Given the description of an element on the screen output the (x, y) to click on. 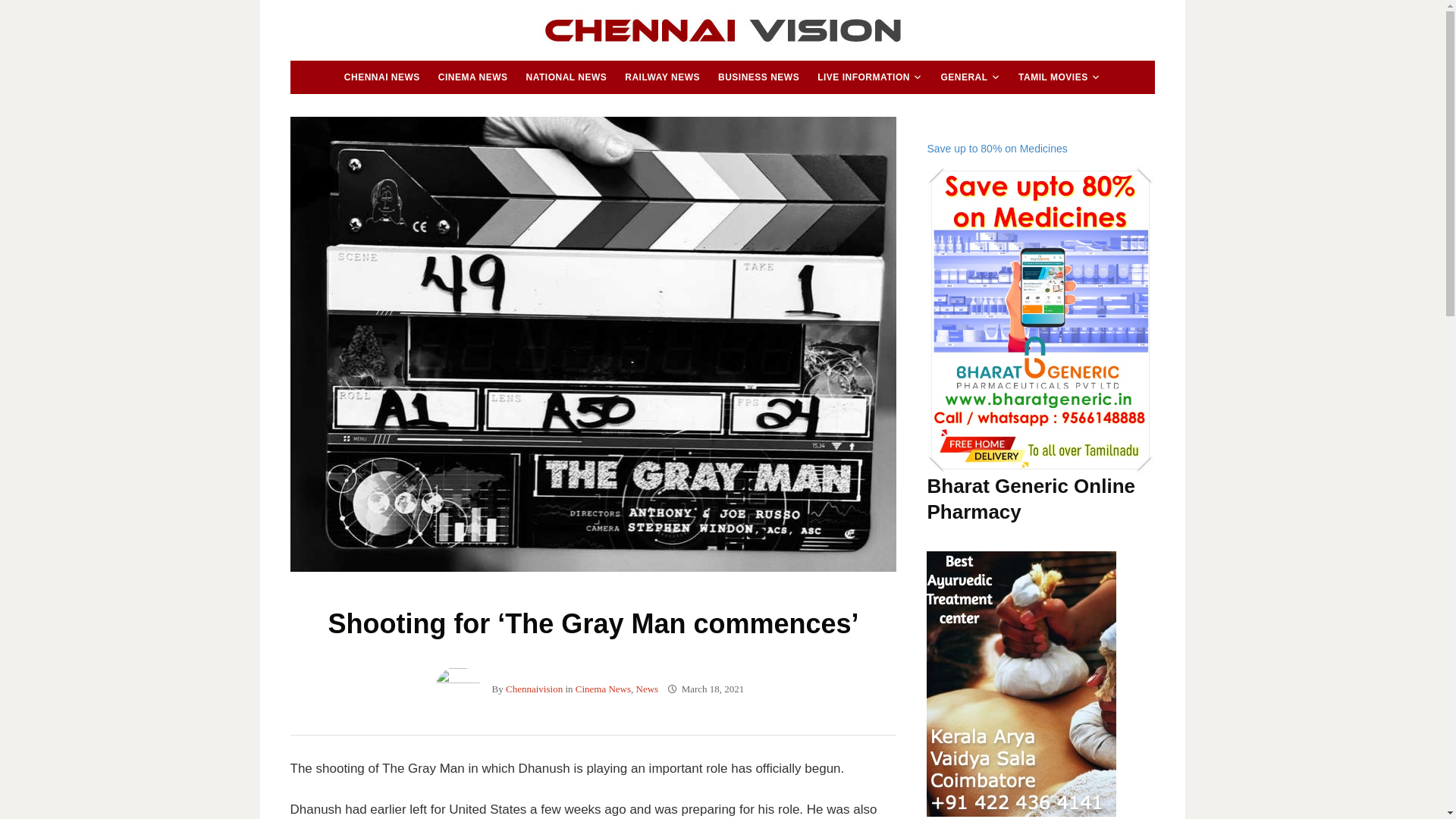
Generic Medicals (1040, 319)
Kerala Arya Vaidya Sala, Coimbatore (1021, 683)
Posts by Chennaivision (533, 688)
